Given the description of an element on the screen output the (x, y) to click on. 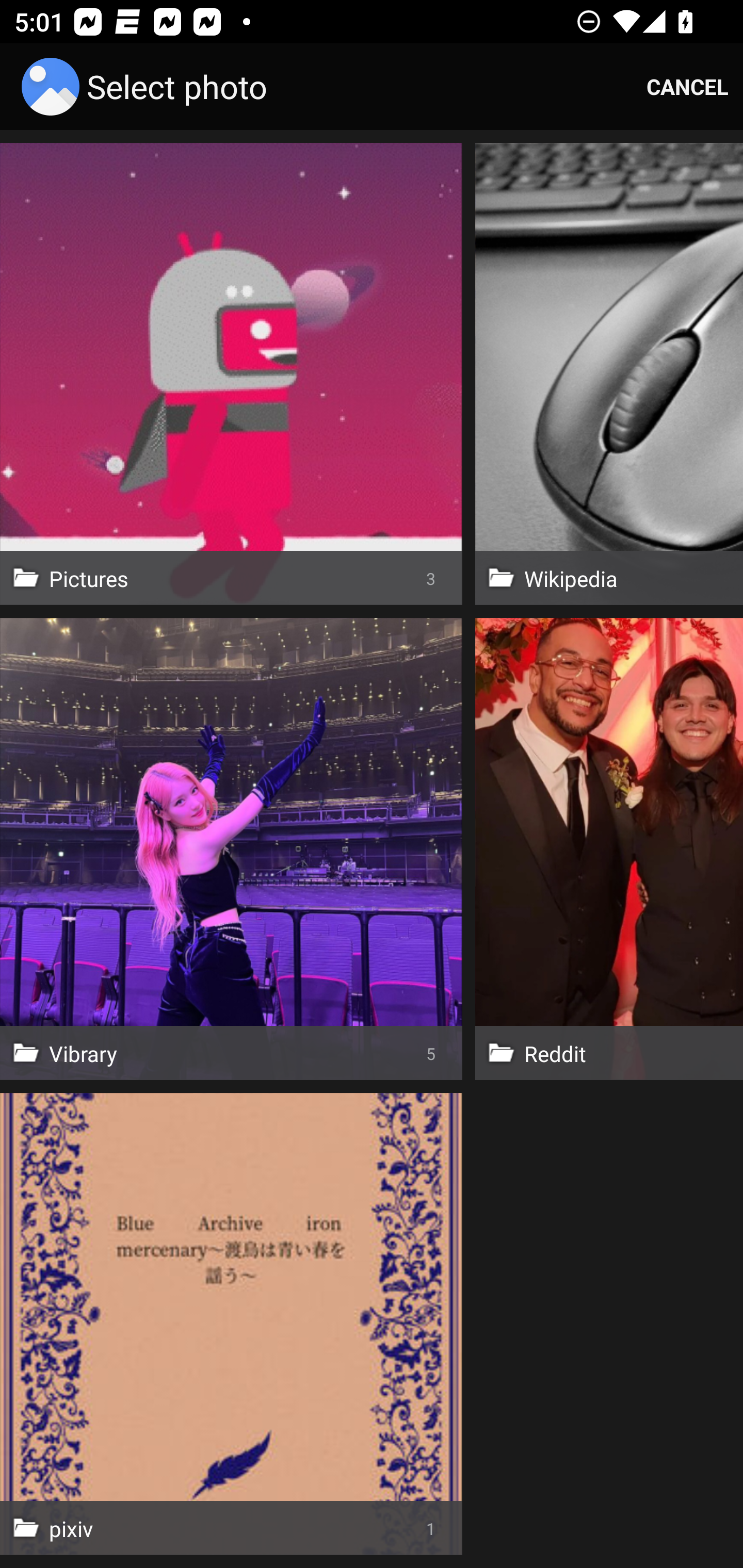
Select photo (148, 86)
CANCEL (687, 86)
